Given the description of an element on the screen output the (x, y) to click on. 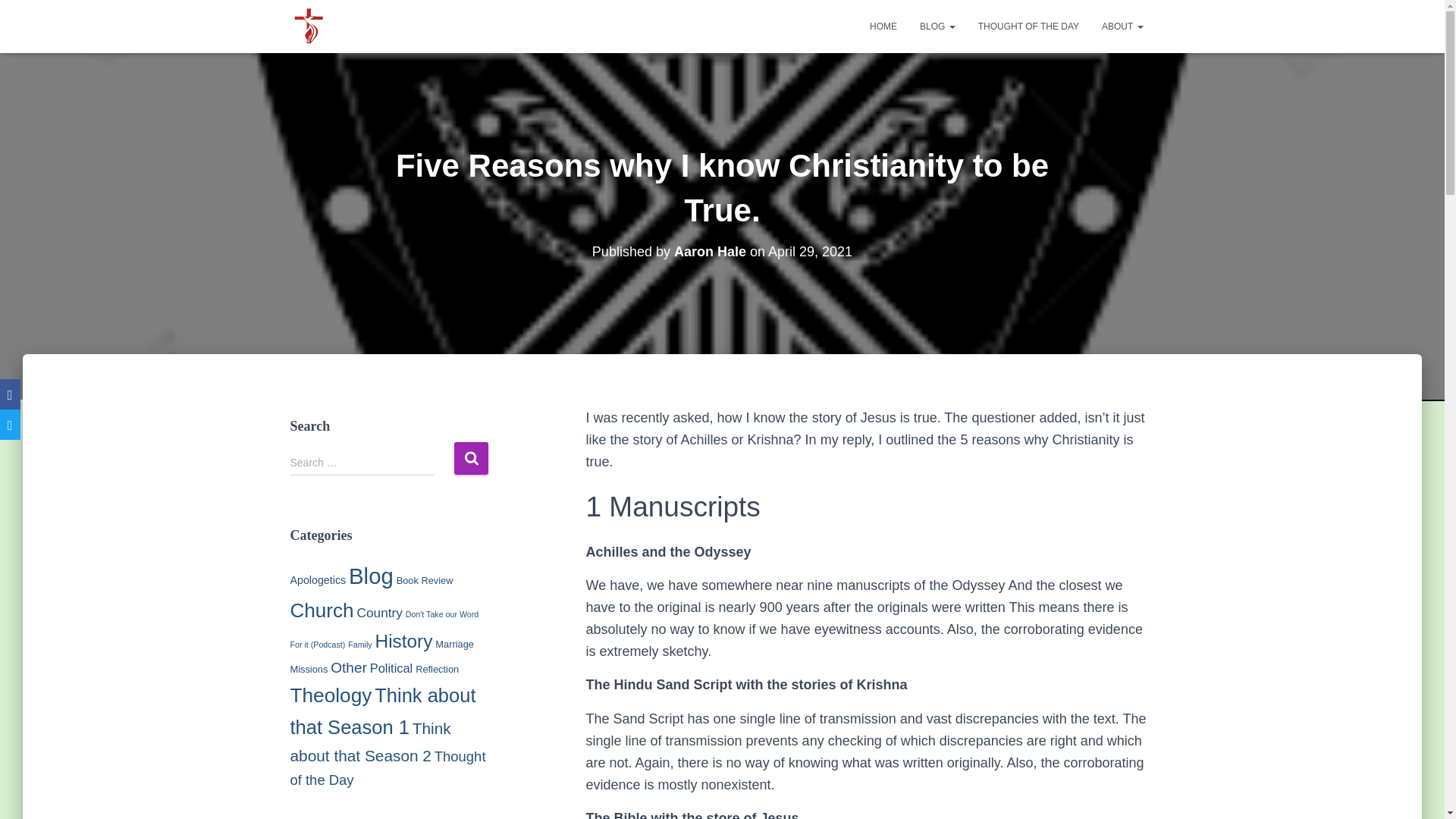
Keep Praying, Reading, Learning, and Thinking (308, 26)
Blog (371, 575)
ABOUT (1122, 26)
Family (359, 644)
Book Review (424, 580)
Marriage (454, 644)
History (403, 640)
Apologetics (317, 580)
Country (379, 612)
Church (321, 609)
